Given the description of an element on the screen output the (x, y) to click on. 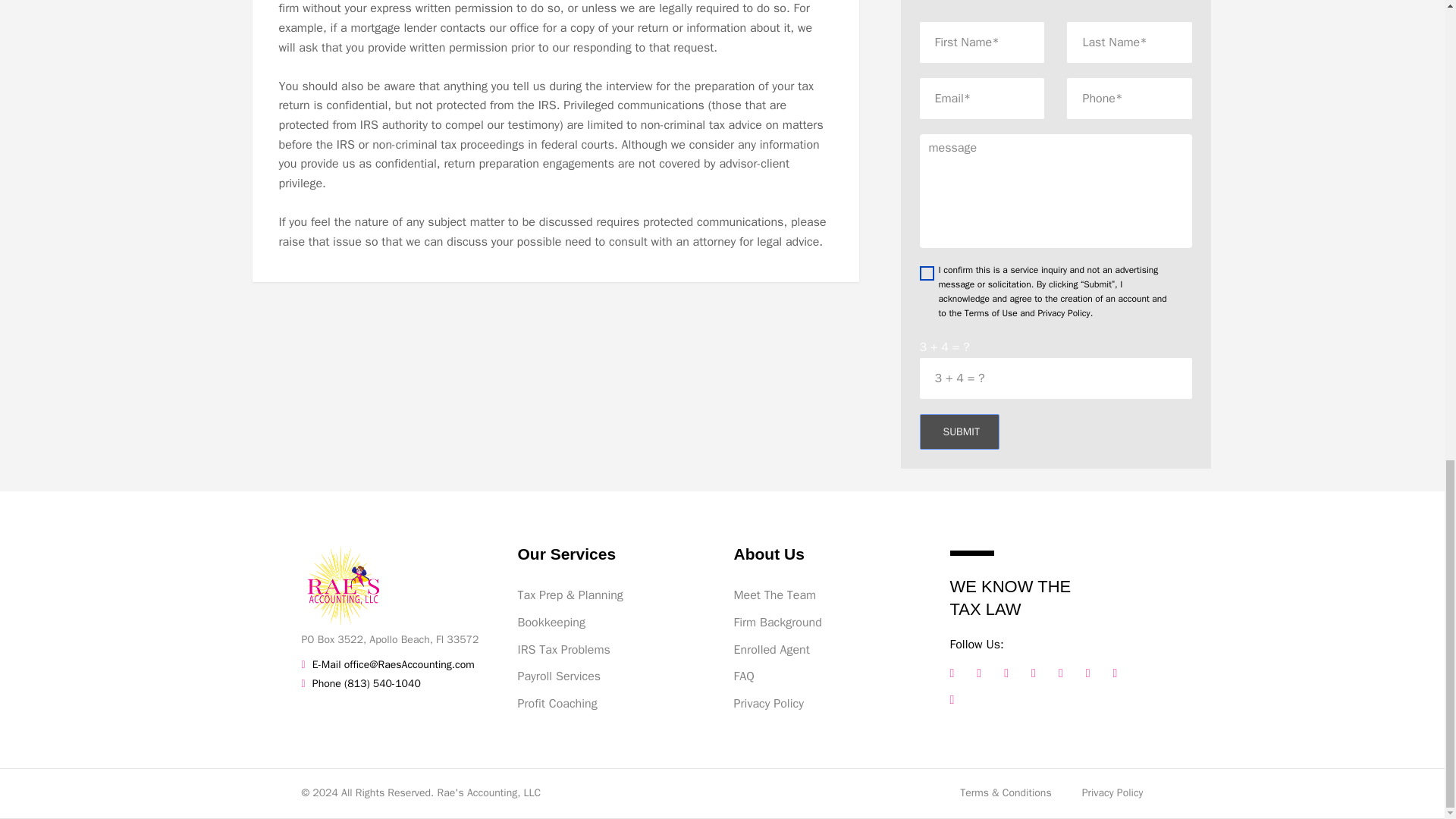
Profit Coaching (613, 704)
IRS Tax Problems (613, 650)
Firm Background (830, 623)
Meet The Team (830, 596)
Bookkeeping (613, 623)
Payroll Services (613, 677)
SUBMIT (958, 432)
